Given the description of an element on the screen output the (x, y) to click on. 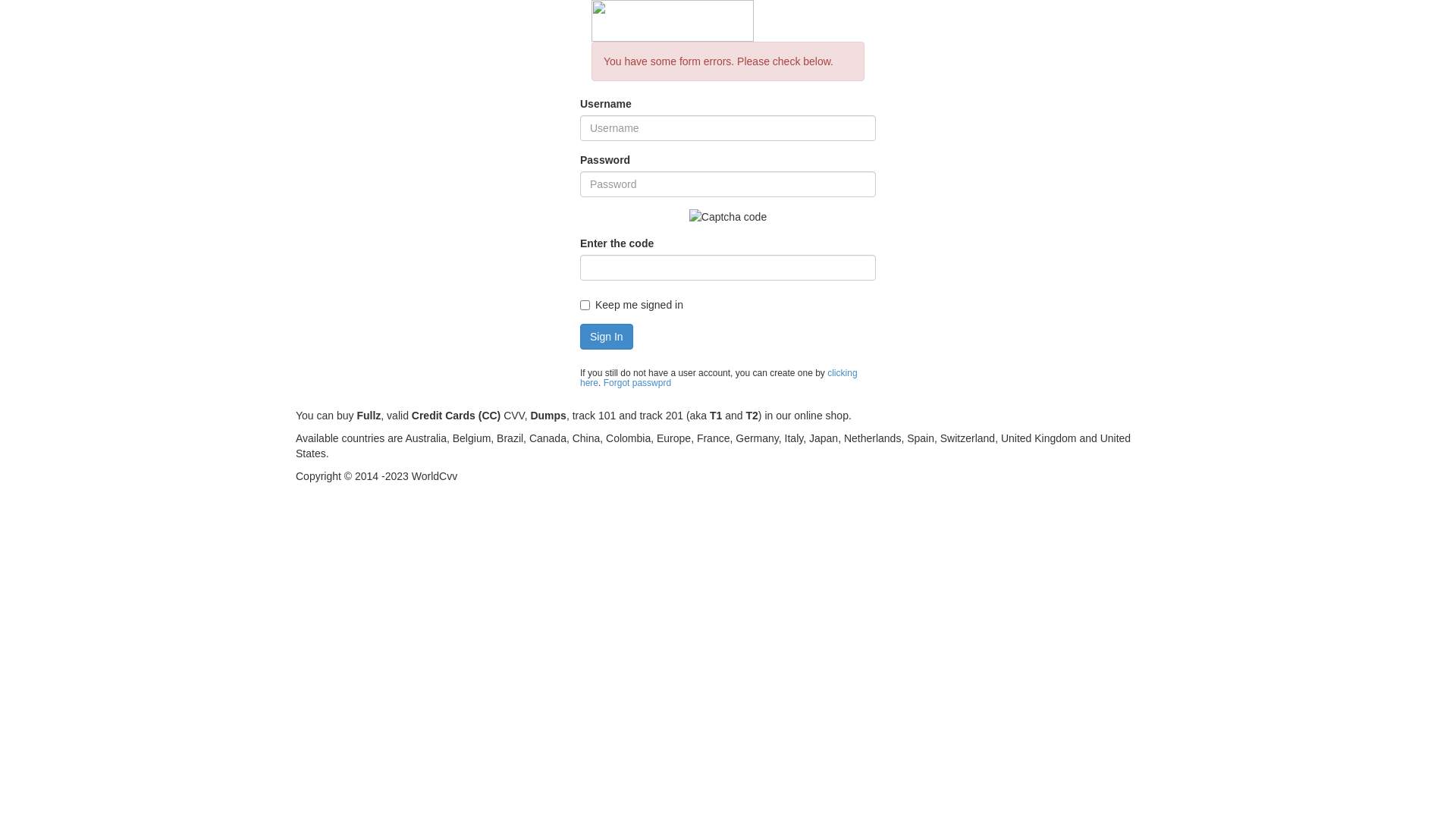
Sign In Element type: text (606, 336)
Please enter captcha Element type: hover (727, 267)
Please enter you username Element type: hover (727, 128)
clicking here Element type: text (718, 377)
Forgot passwprd Element type: text (637, 382)
Please enter your password Element type: hover (727, 184)
